Given the description of an element on the screen output the (x, y) to click on. 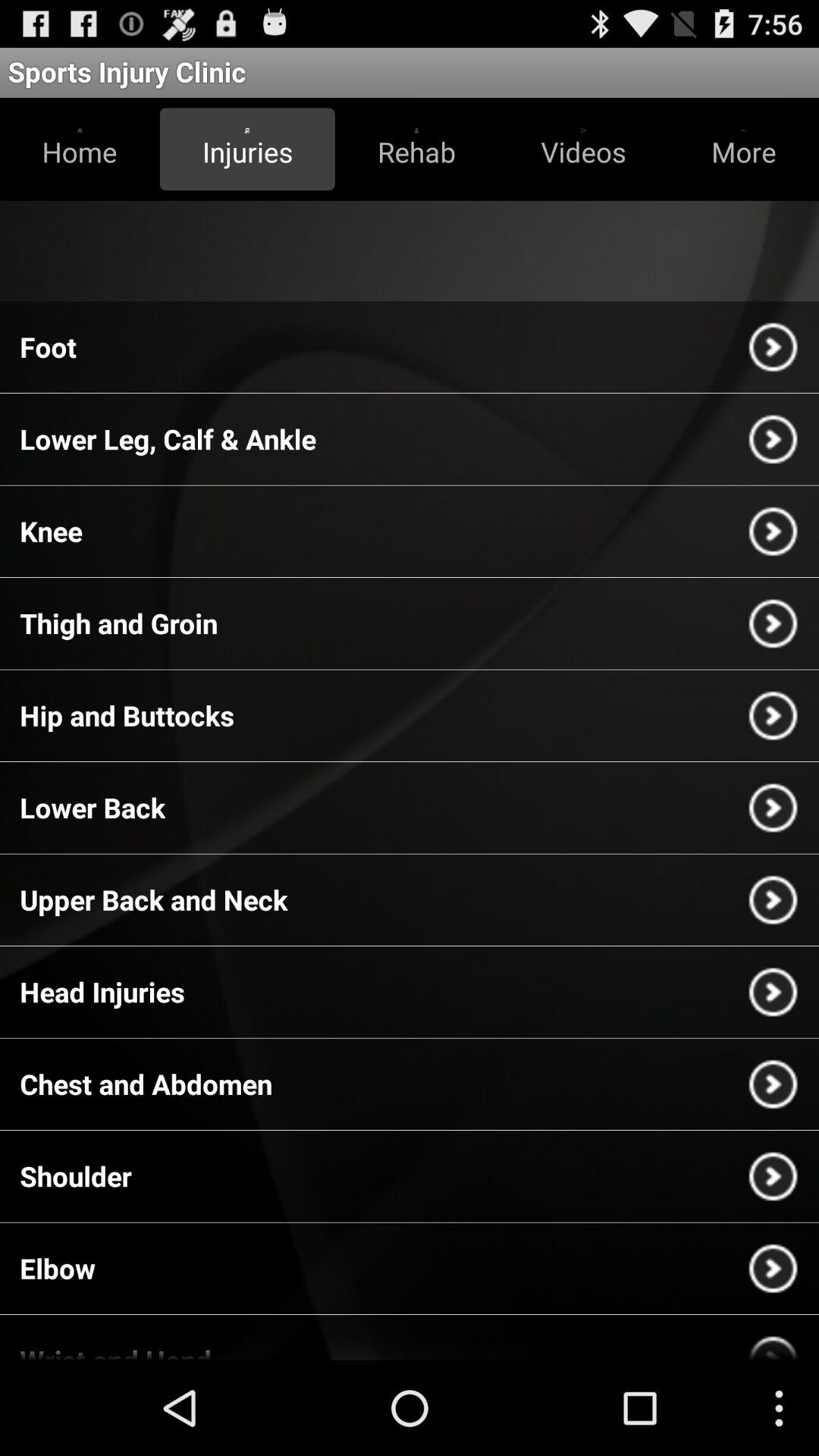
tap knee (50, 530)
